Given the description of an element on the screen output the (x, y) to click on. 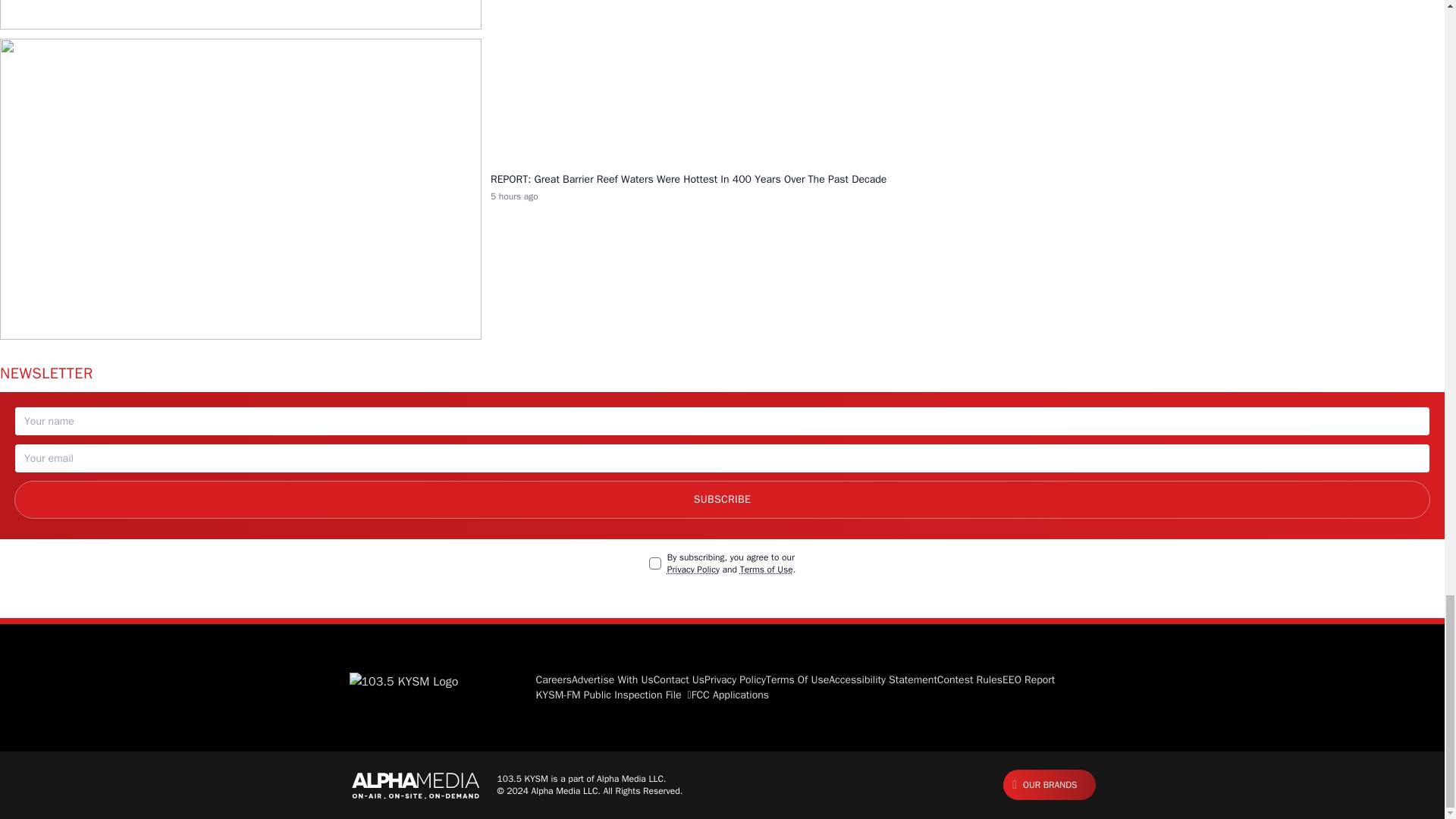
Signup Terms Agree (655, 563)
